Given the description of an element on the screen output the (x, y) to click on. 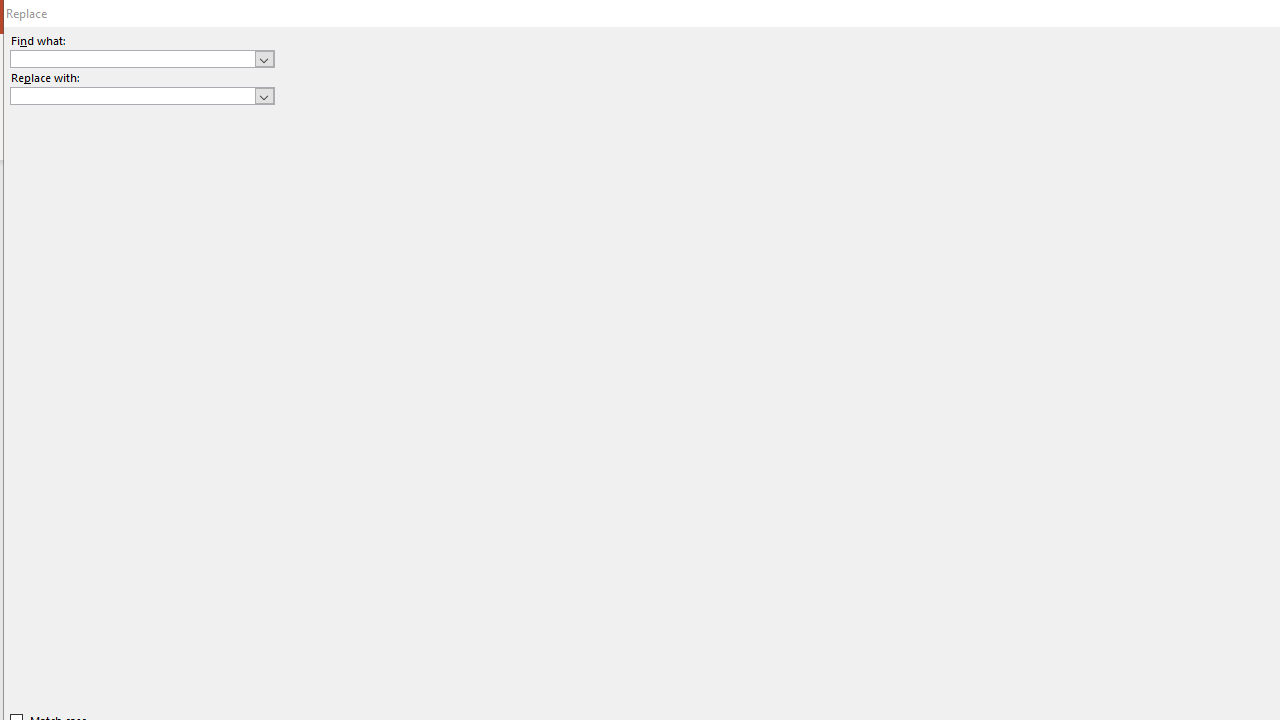
Shape Outline Blue, Accent 1 (1188, 101)
Replace with (132, 95)
